Given the description of an element on the screen output the (x, y) to click on. 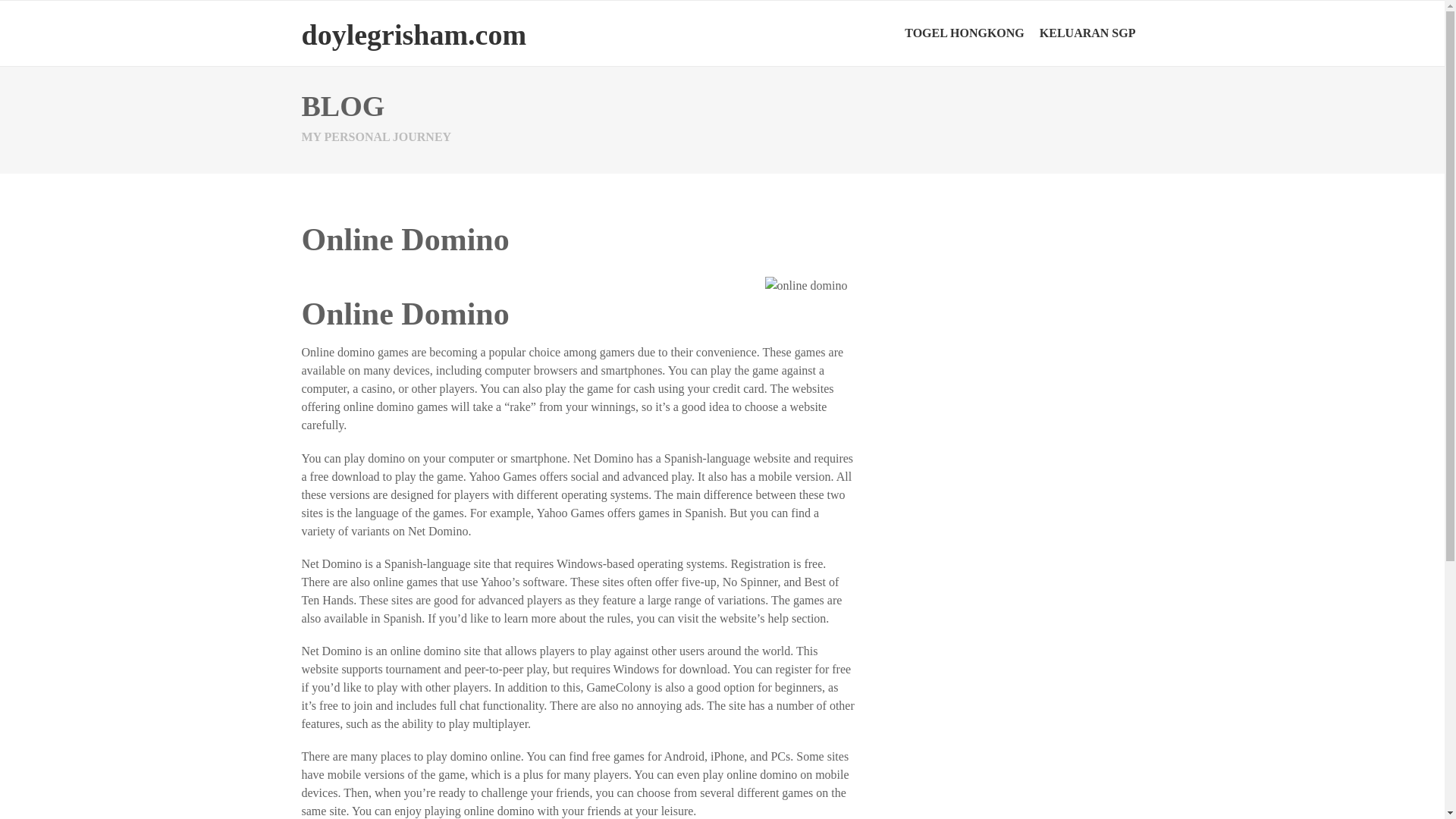
doylegrisham.com (414, 34)
TOGEL HONGKONG (964, 33)
KELUARAN SGP (1087, 33)
